Given the description of an element on the screen output the (x, y) to click on. 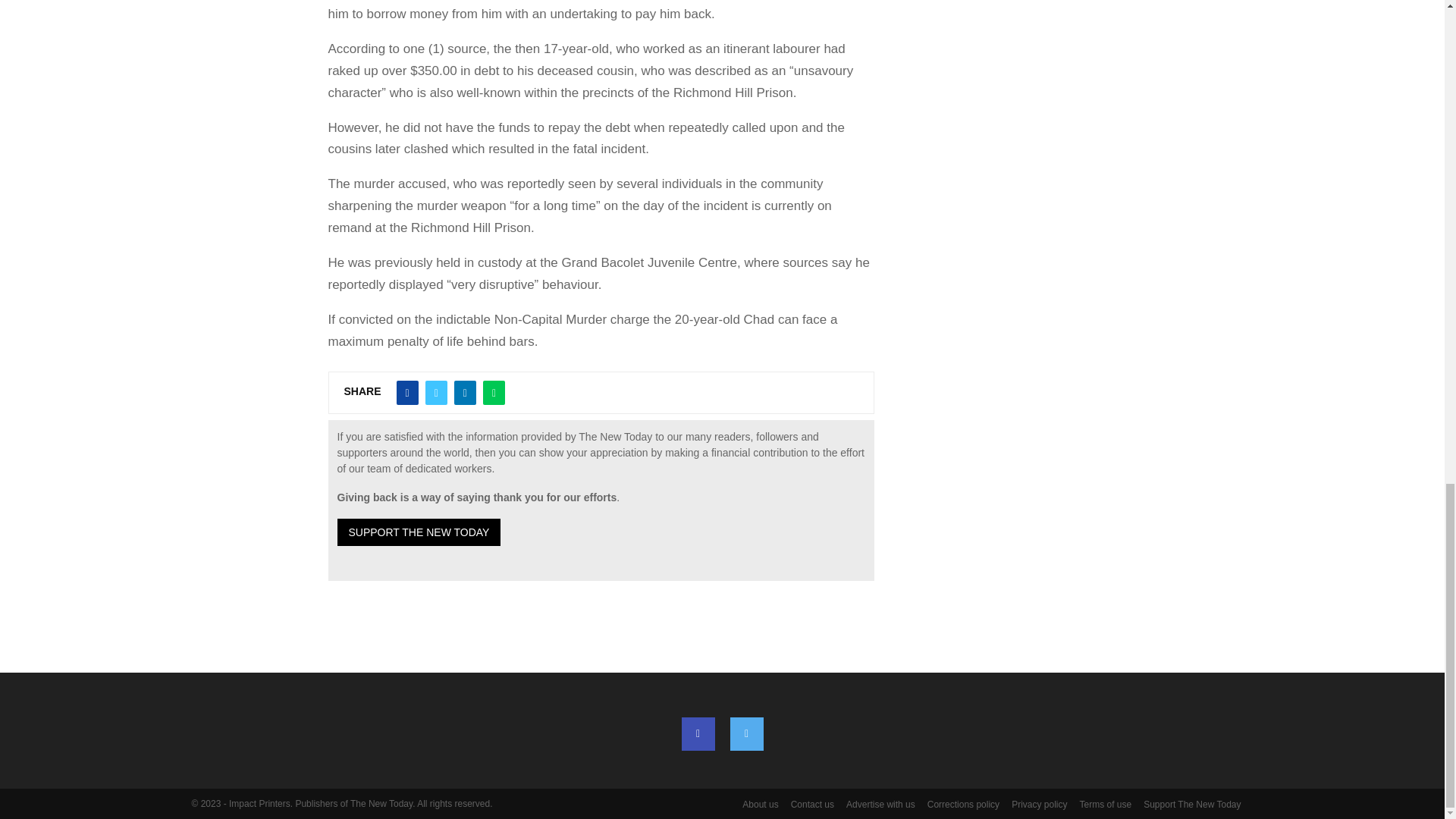
Twitter (745, 734)
SUPPORT THE NEW TODAY (418, 532)
Facebook (697, 734)
